Given the description of an element on the screen output the (x, y) to click on. 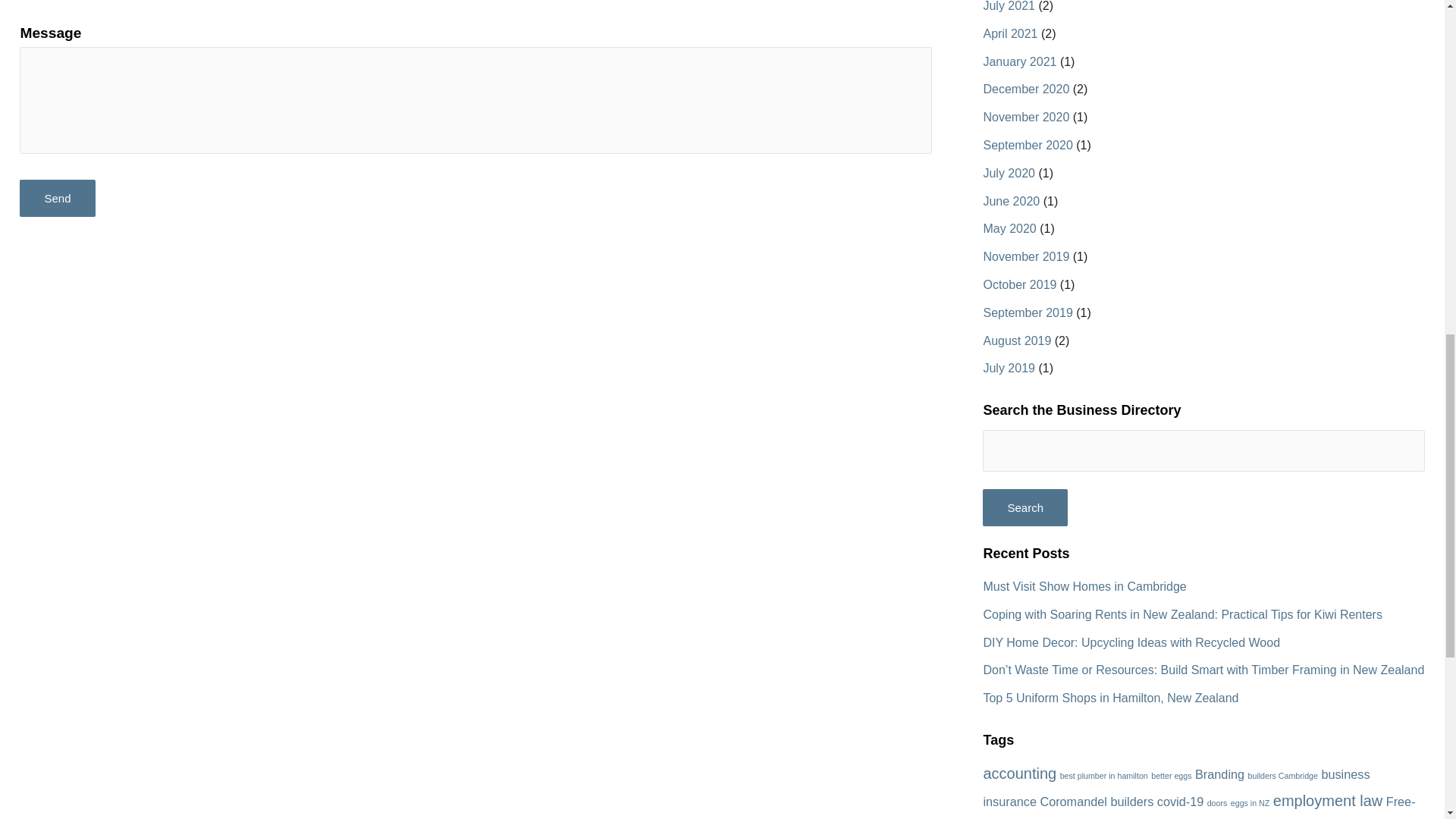
Search (1024, 507)
Send (57, 198)
Send (57, 198)
Search (1024, 507)
